Given the description of an element on the screen output the (x, y) to click on. 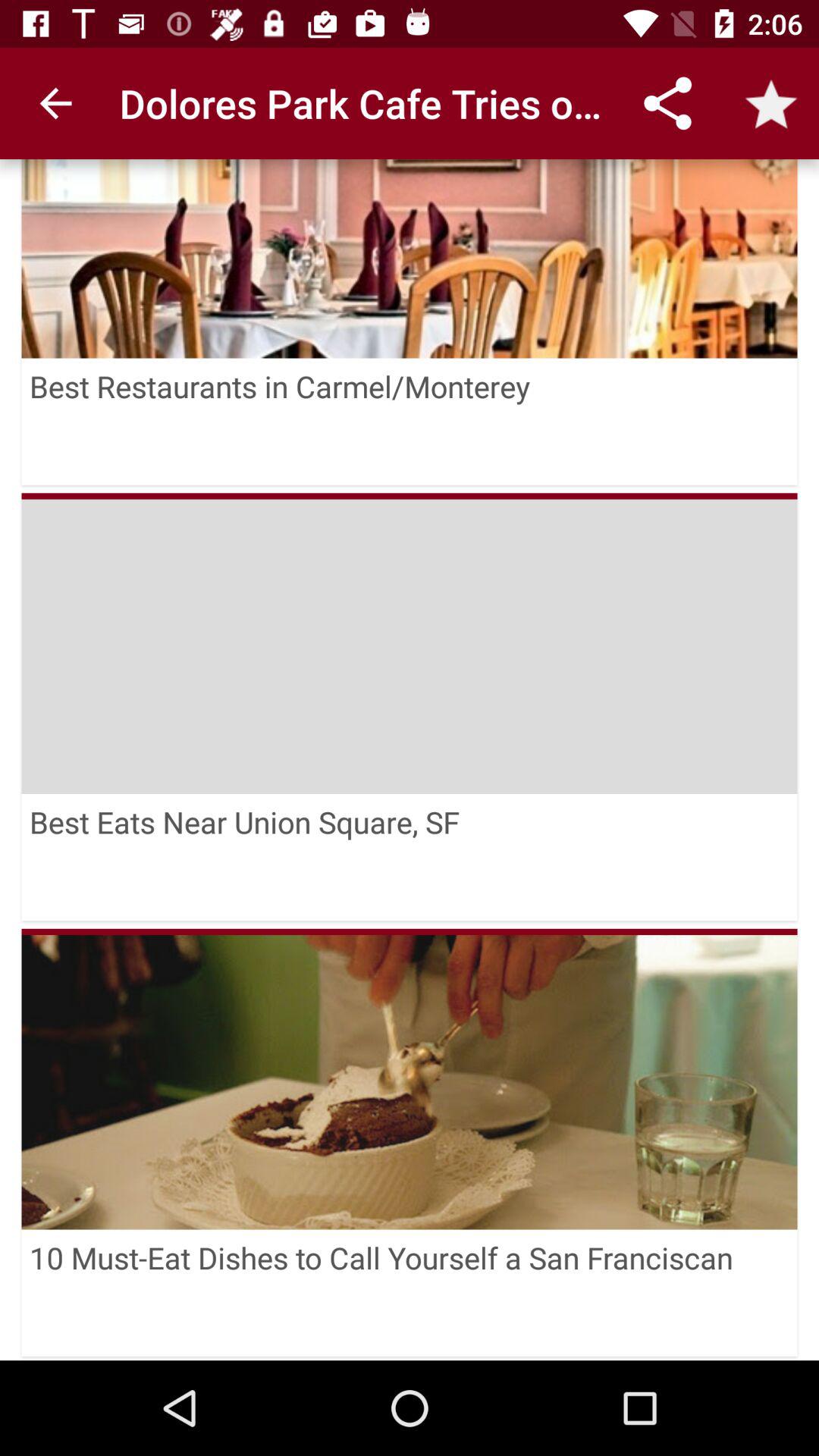
scroll to best eats near icon (409, 856)
